Given the description of an element on the screen output the (x, y) to click on. 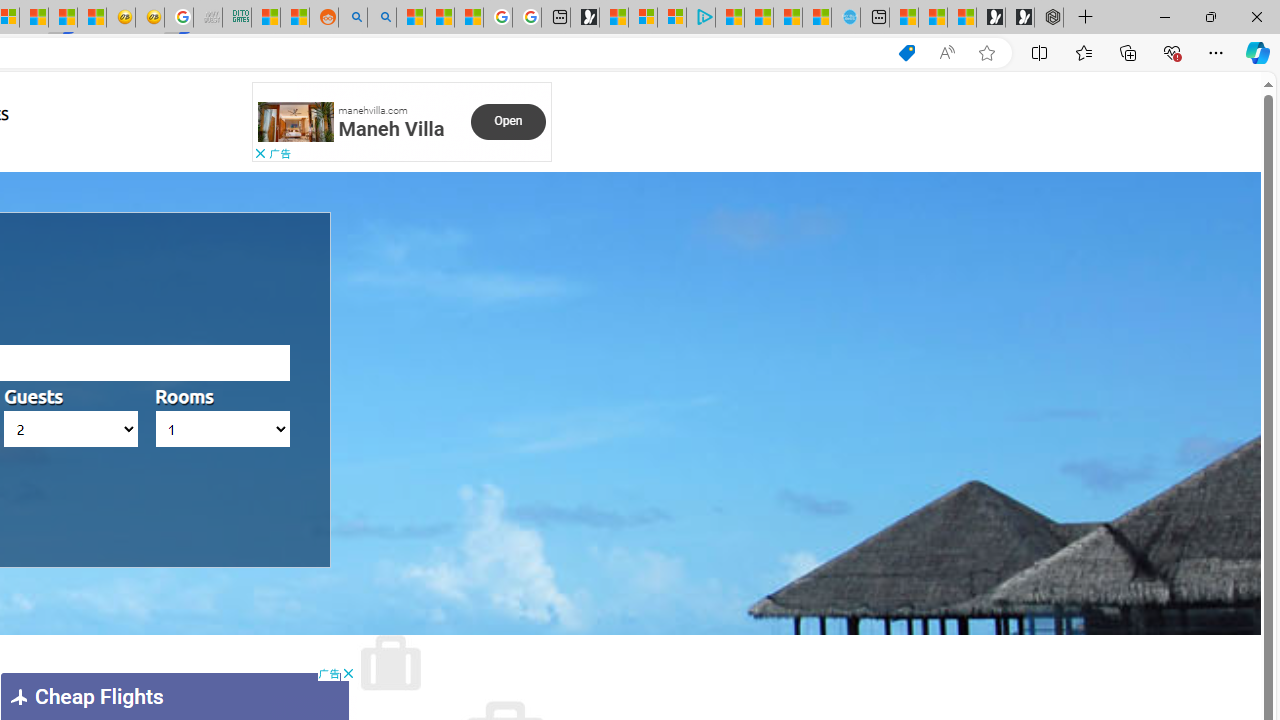
AutomationID: hotels_rooms (222, 429)
